Given the description of an element on the screen output the (x, y) to click on. 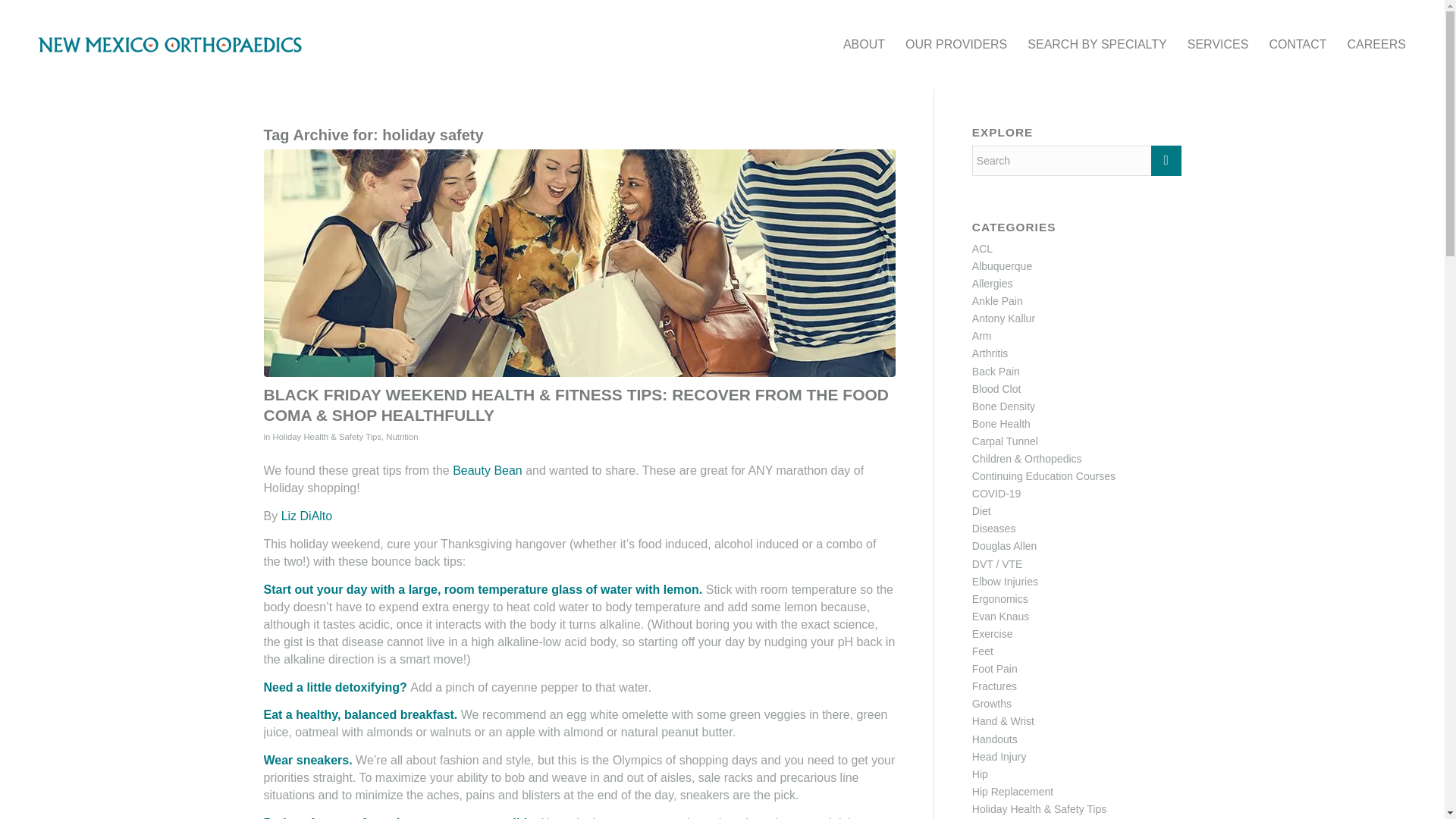
Our Providers (955, 44)
OUR PROVIDERS (955, 44)
Specialists (1096, 44)
SERVICES (1217, 44)
SEARCH BY SPECIALTY (1096, 44)
NMO Logo Teal (170, 44)
